Given the description of an element on the screen output the (x, y) to click on. 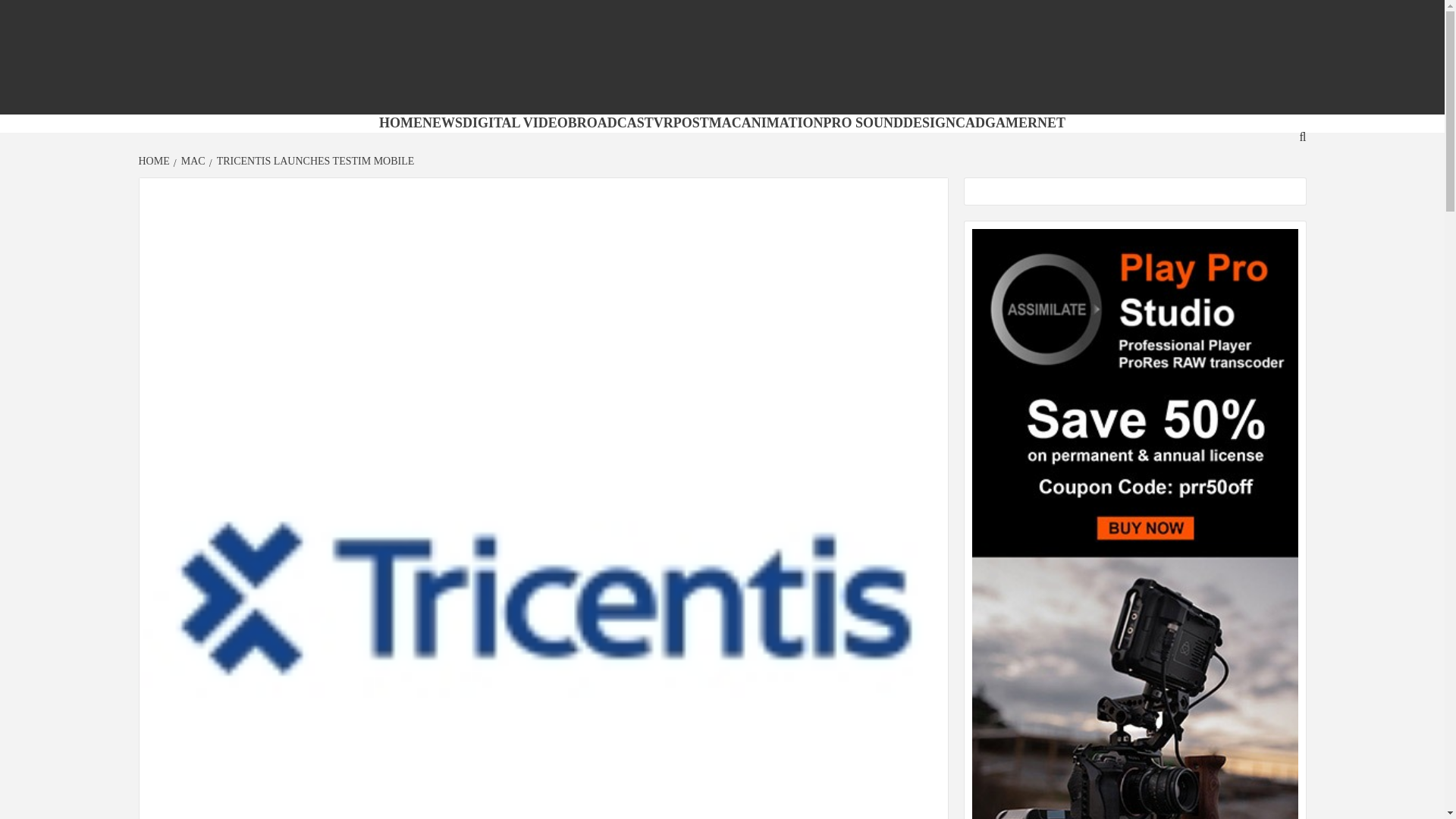
HOME (155, 161)
DIGITAL MEDIA NET (526, 101)
DESIGN (928, 122)
TRICENTIS LAUNCHES TESTIM MOBILE (314, 161)
ANIMATION (782, 122)
VR (662, 122)
PRO SOUND (864, 122)
GAMERNET (1025, 122)
POST (690, 122)
DIGITAL VIDEO (515, 122)
